Given the description of an element on the screen output the (x, y) to click on. 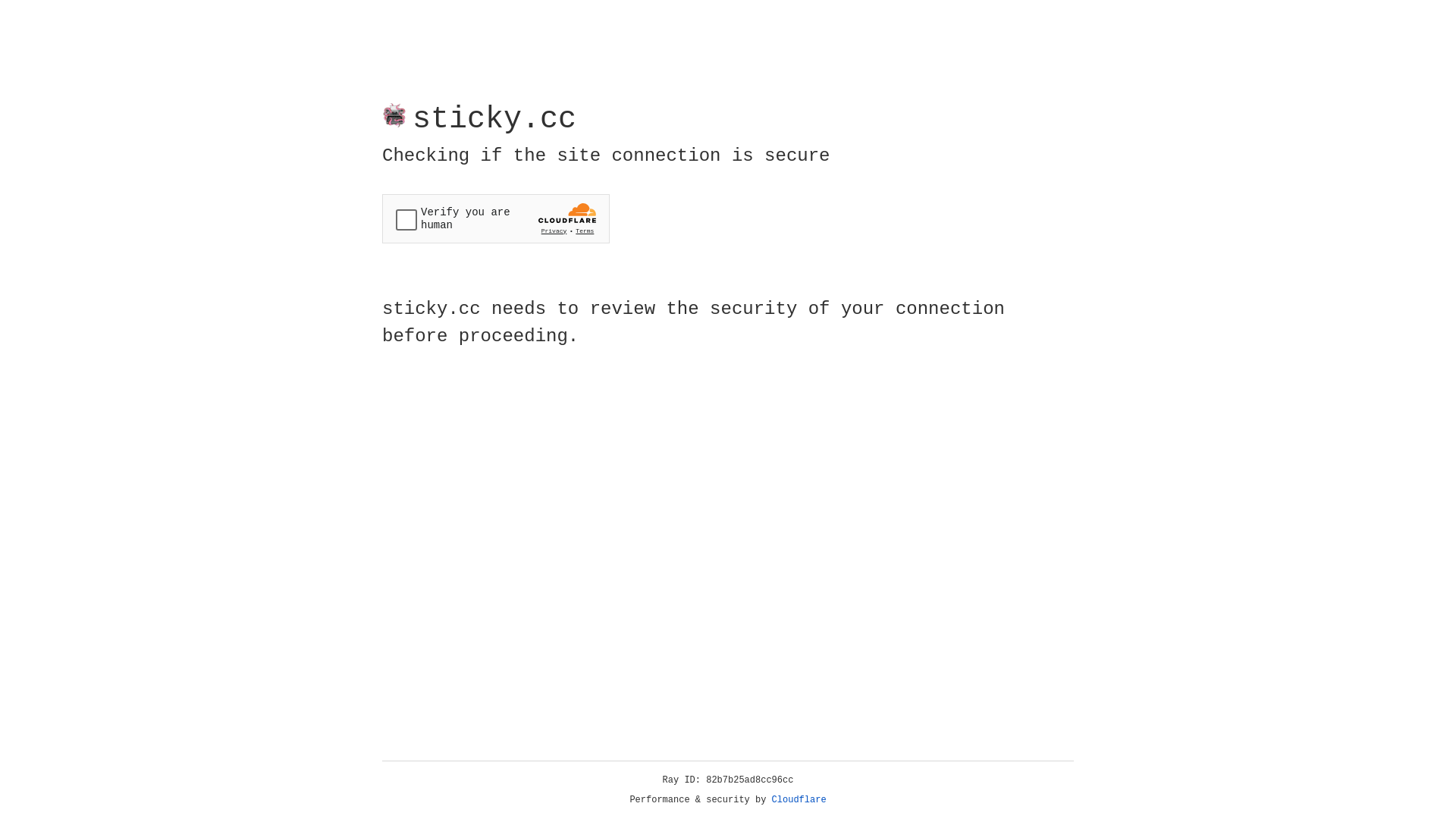
Cloudflare Element type: text (798, 799)
Widget containing a Cloudflare security challenge Element type: hover (495, 218)
